Given the description of an element on the screen output the (x, y) to click on. 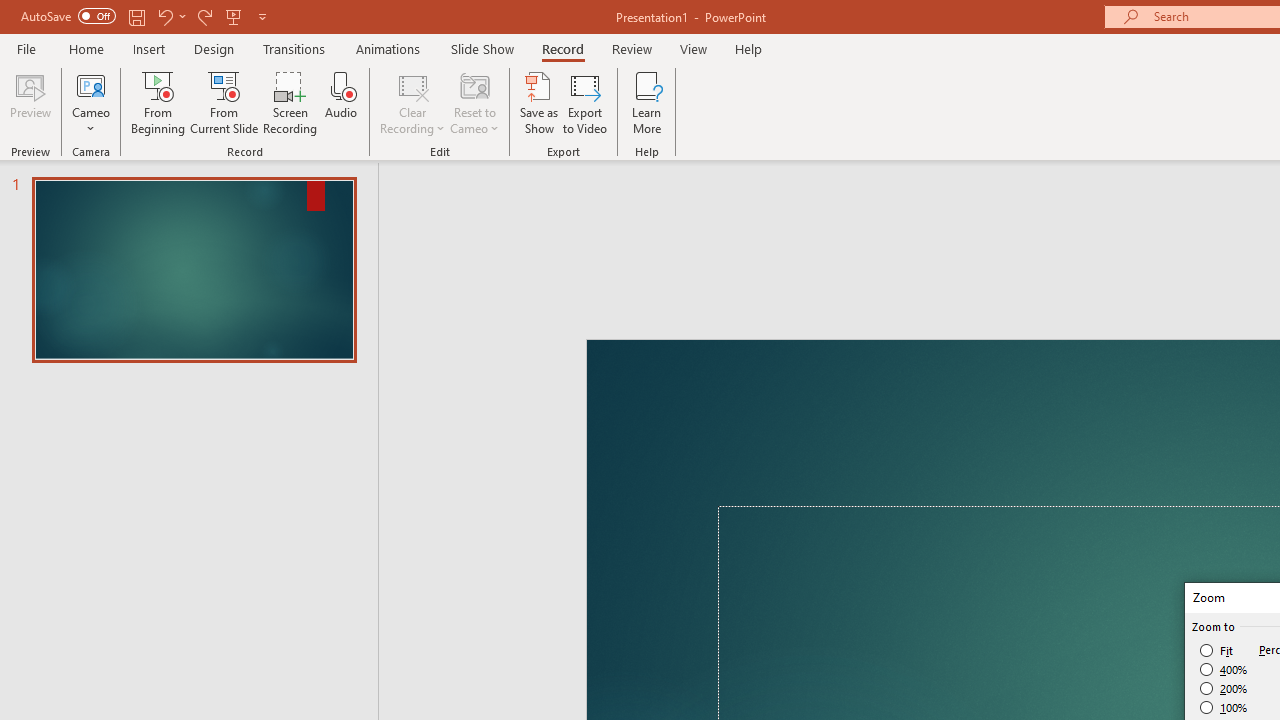
View (1087, 84)
More Options (927, 187)
Can't Repeat (341, 31)
Start Mail Merge (328, 161)
Review (1007, 84)
Undo Click and Type Formatting (280, 31)
Design (495, 84)
Layout (584, 84)
